Given the description of an element on the screen output the (x, y) to click on. 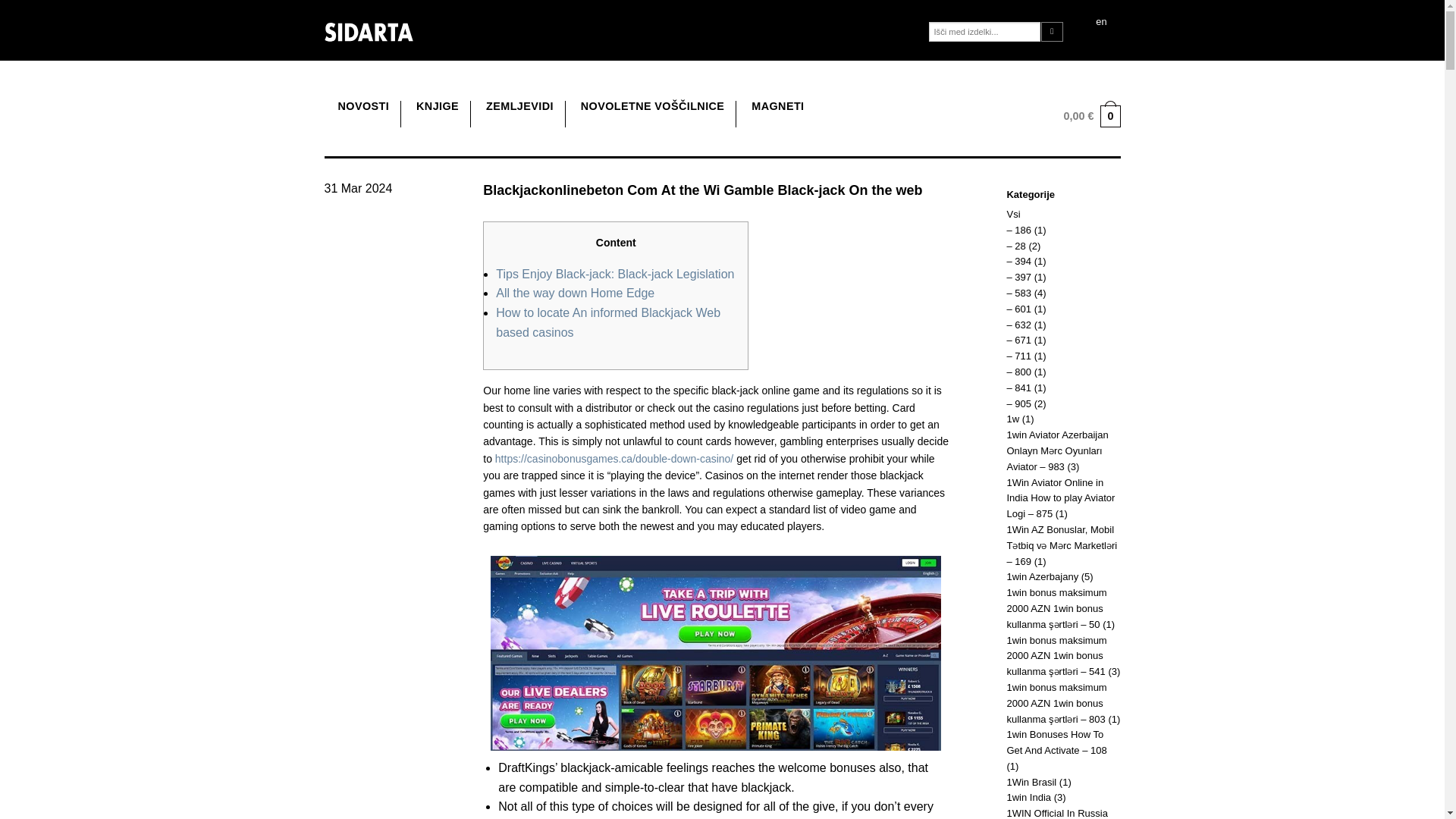
Tips Enjoy Black-jack: Black-jack Legislation (614, 273)
en (1100, 22)
KNJIGE (437, 105)
MAGNETI (777, 105)
All the way down Home Edge (574, 292)
How to locate An informed Blackjack Web based casinos (608, 322)
ZEMLJEVIDI (519, 105)
NOVOSTI (363, 105)
